Given the description of an element on the screen output the (x, y) to click on. 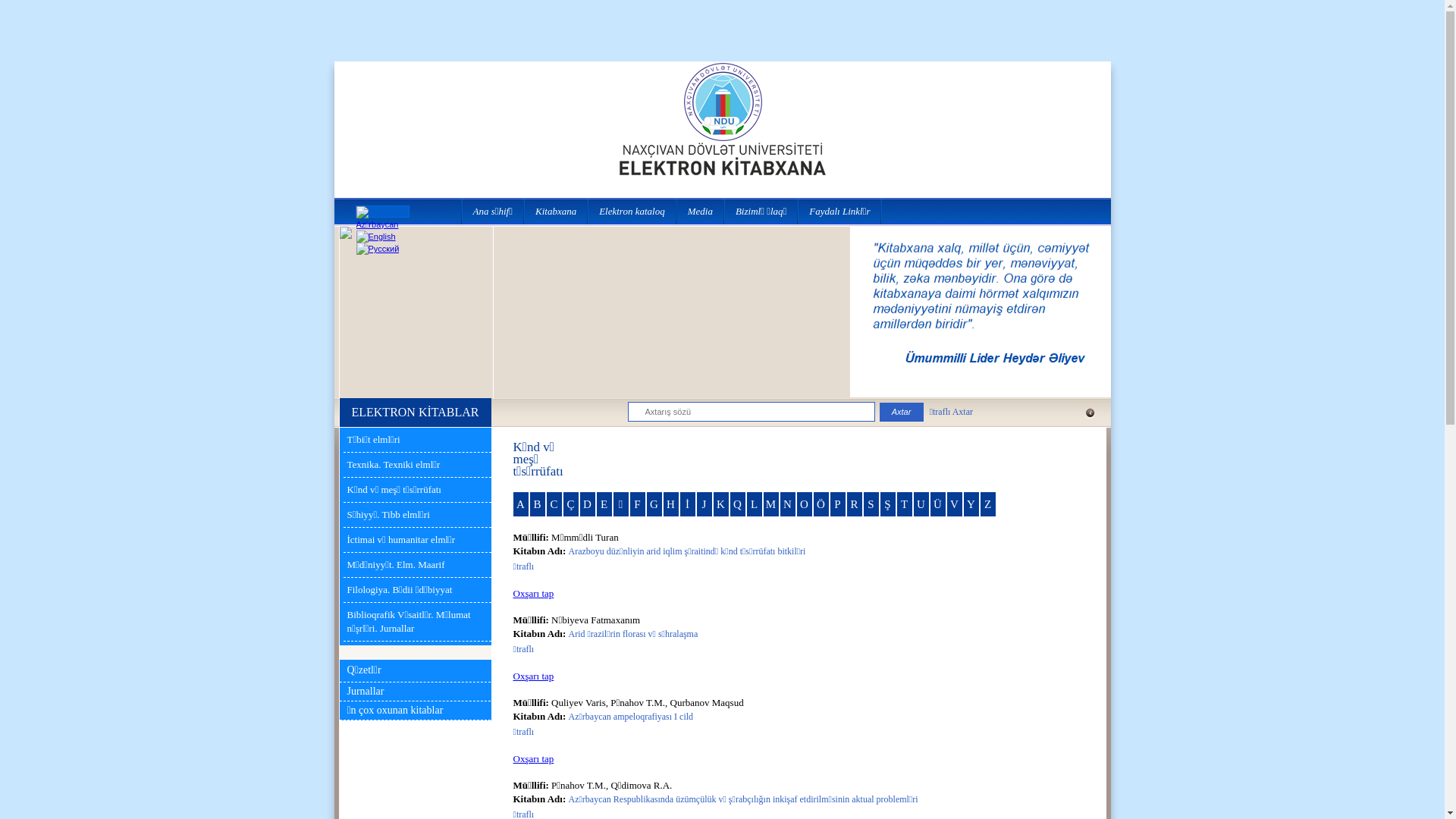
M Element type: text (770, 504)
Axtar Element type: text (901, 410)
E Element type: text (603, 504)
O Element type: text (804, 504)
N Element type: text (787, 504)
Y Element type: text (970, 504)
Elektron kataloq Element type: text (632, 210)
L Element type: text (753, 504)
English Element type: hover (375, 236)
Q Element type: text (737, 504)
B Element type: text (536, 504)
Media Element type: text (700, 210)
A Element type: text (520, 504)
Z Element type: text (987, 504)
V Element type: text (954, 504)
F Element type: text (636, 504)
S Element type: text (870, 504)
U Element type: text (920, 504)
J Element type: text (704, 504)
G Element type: text (653, 504)
R Element type: text (853, 504)
D Element type: text (587, 504)
T Element type: text (903, 504)
Kitabxana Element type: text (556, 210)
H Element type: text (670, 504)
C Element type: text (553, 504)
K Element type: text (720, 504)
P Element type: text (837, 504)
